Given the description of an element on the screen output the (x, y) to click on. 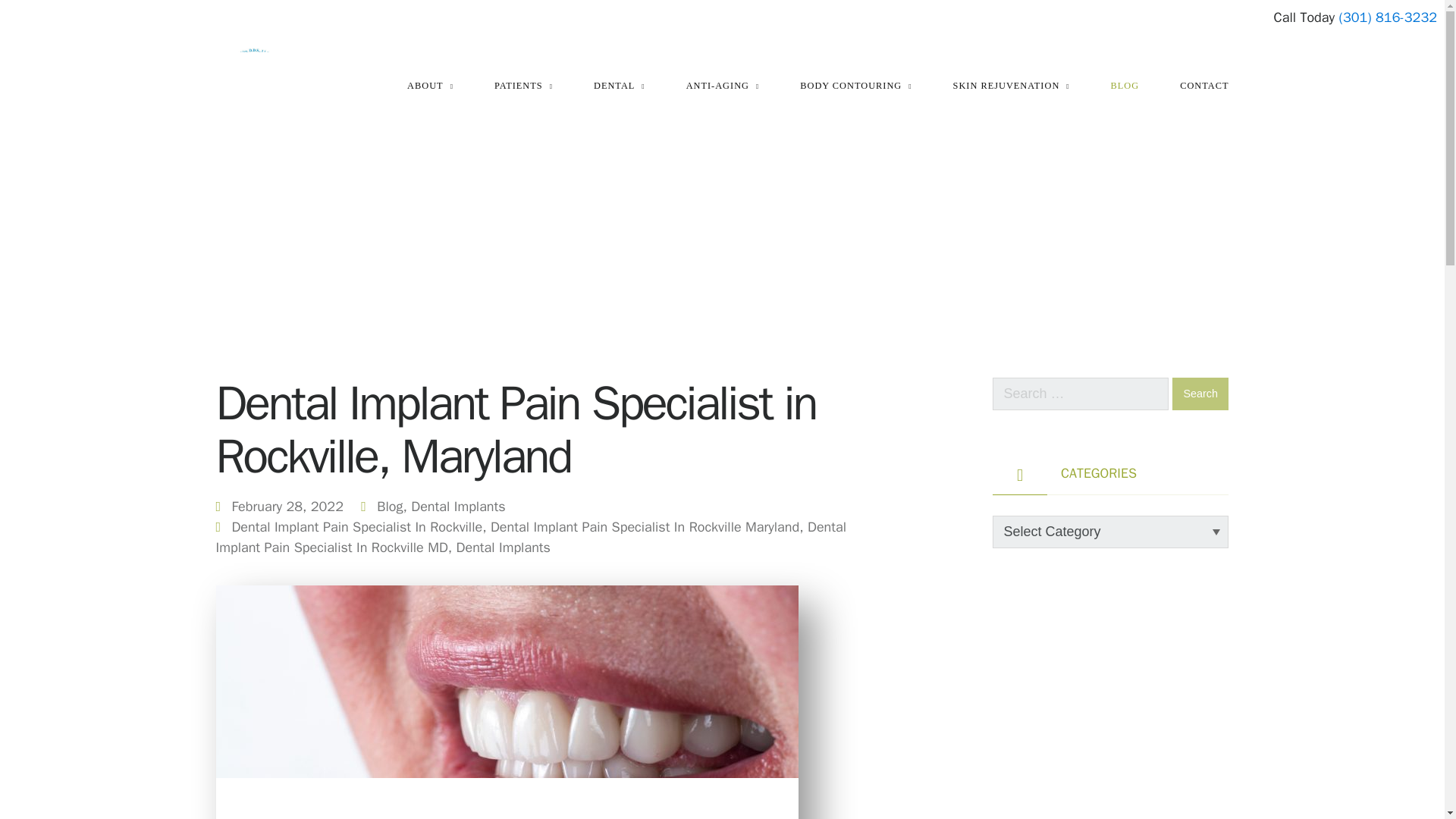
PATIENTS (524, 85)
DENTAL (619, 85)
Search (1200, 393)
ANTI-AGING (722, 85)
BODY CONTOURING (855, 85)
Search (1200, 393)
ABOUT (429, 85)
